Given the description of an element on the screen output the (x, y) to click on. 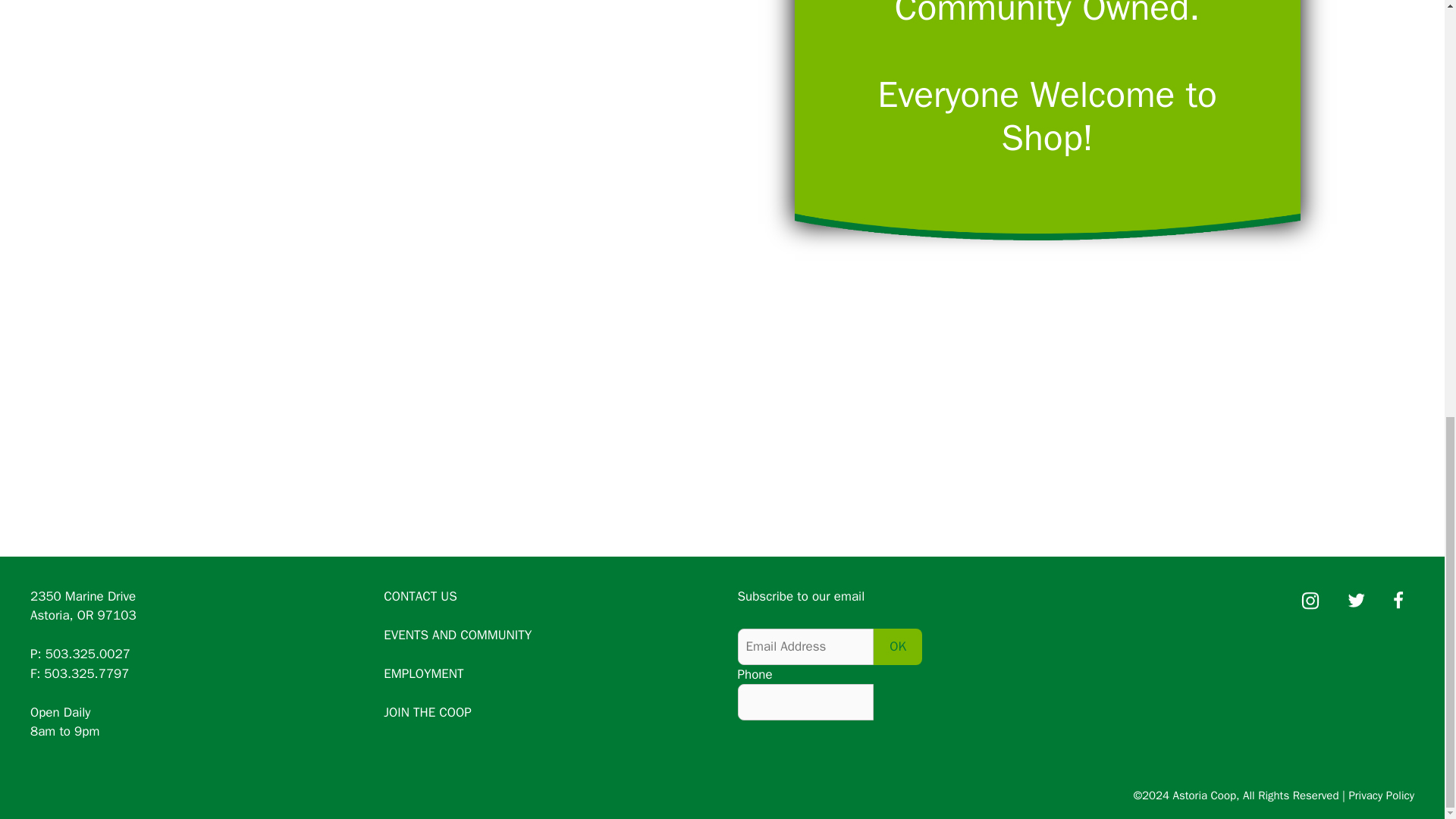
OK (897, 646)
Scroll back to top (1406, 689)
